Given the description of an element on the screen output the (x, y) to click on. 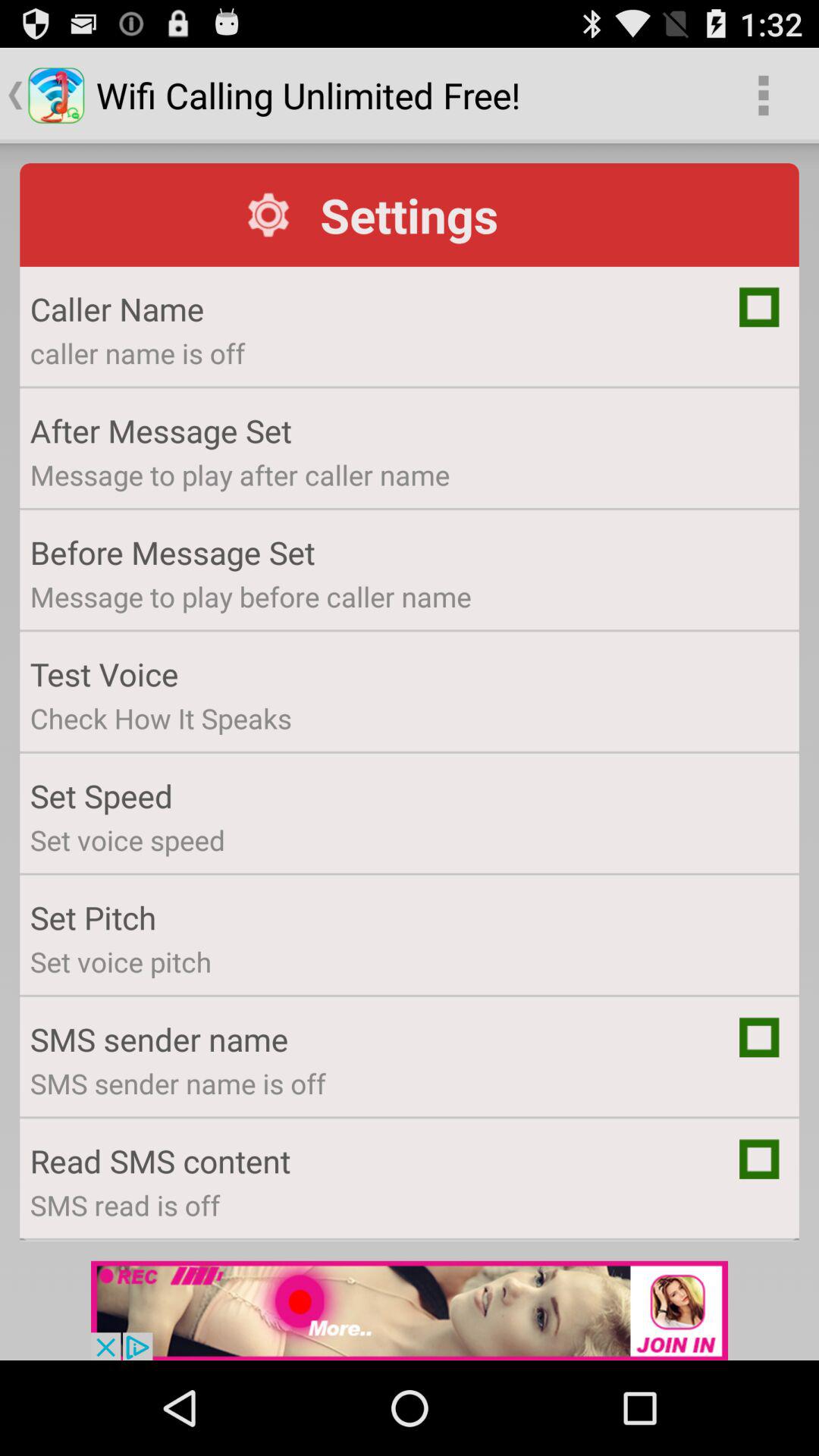
go to link in advertisement (409, 1310)
